Given the description of an element on the screen output the (x, y) to click on. 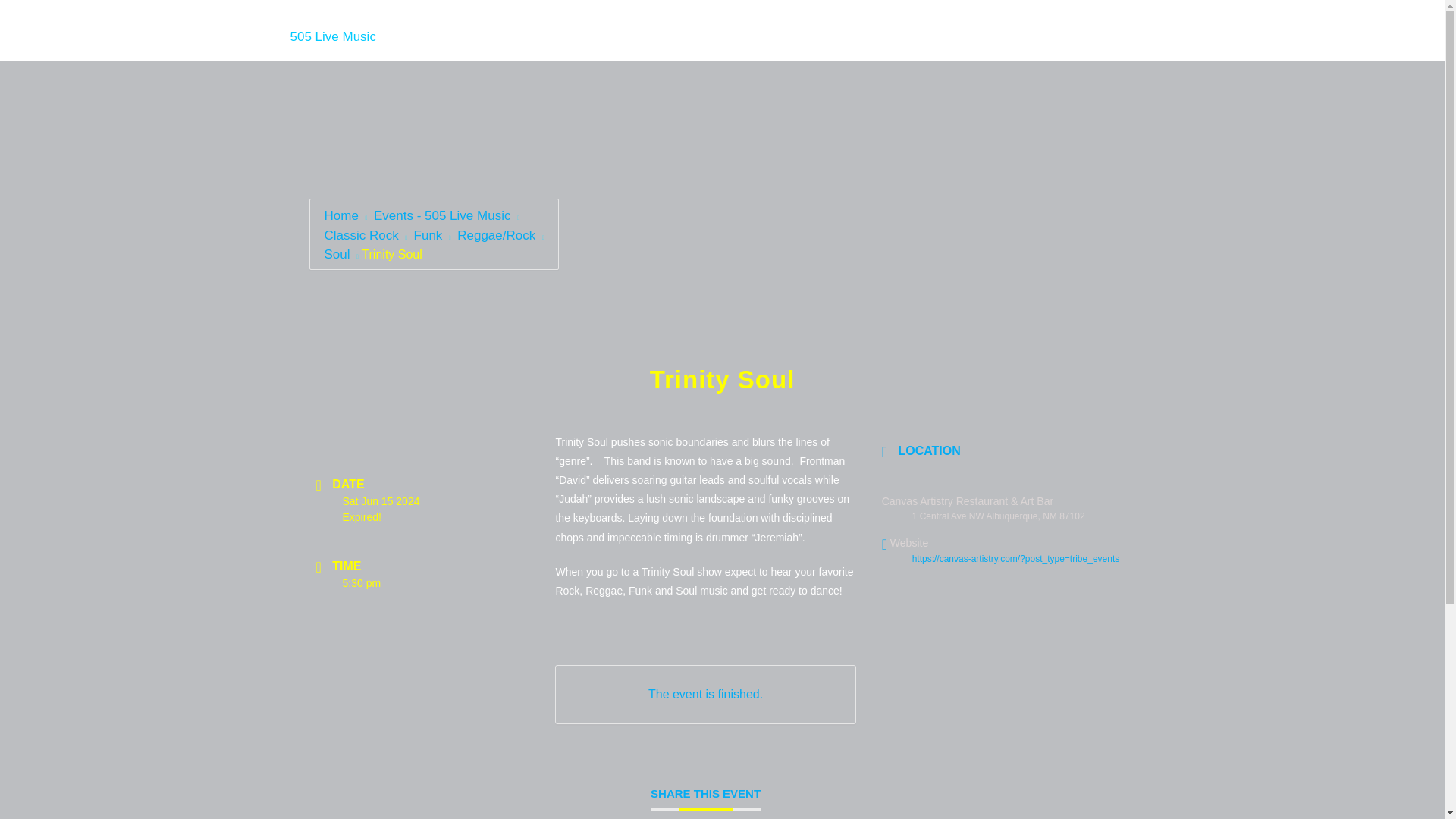
Home (341, 215)
505 Live Music (332, 36)
Home (332, 36)
Classic Rock (359, 235)
Soul (335, 254)
Events - 505 Live Music (441, 215)
Funk (426, 235)
